Given the description of an element on the screen output the (x, y) to click on. 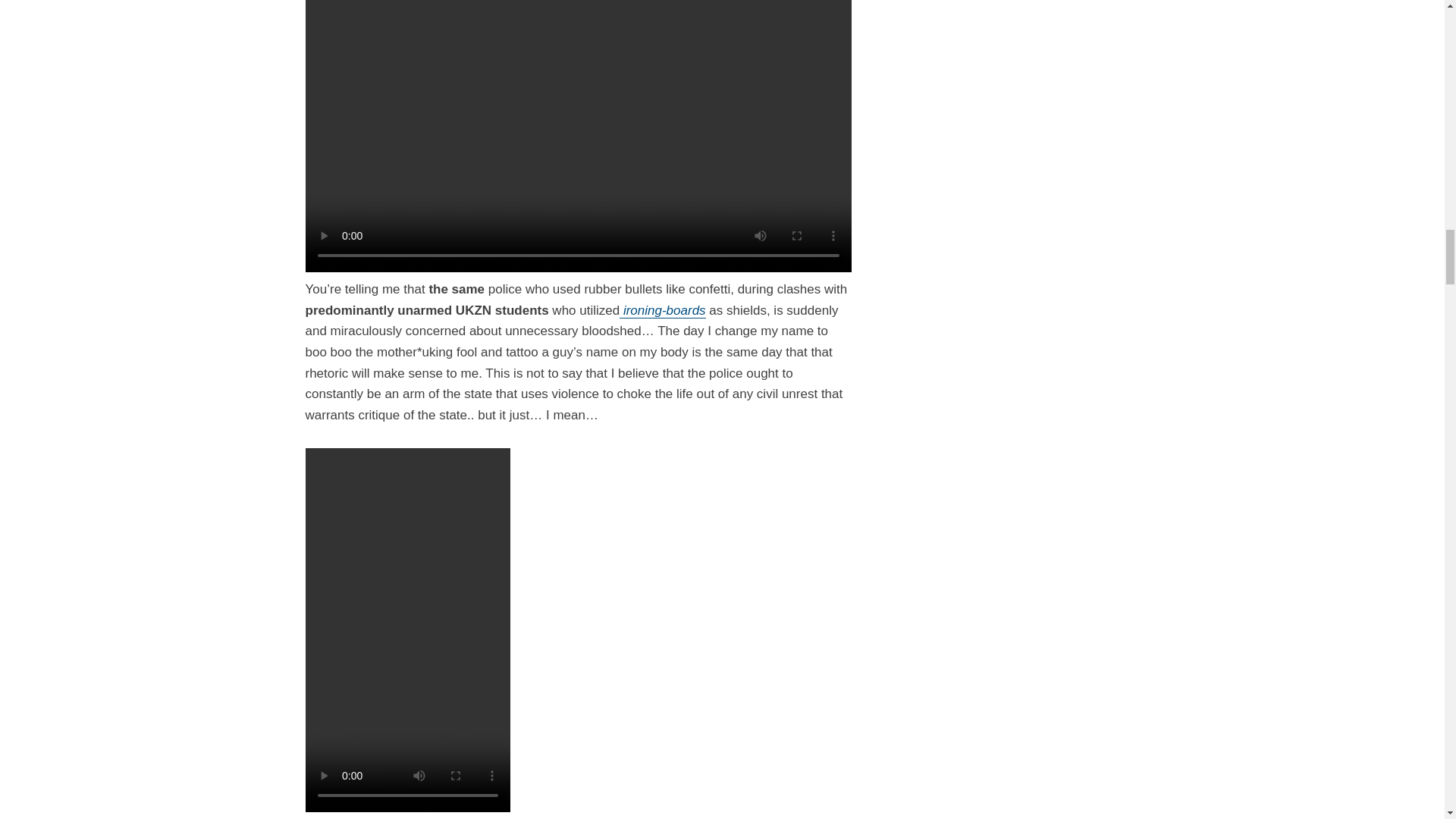
ironing-boards (662, 310)
